Given the description of an element on the screen output the (x, y) to click on. 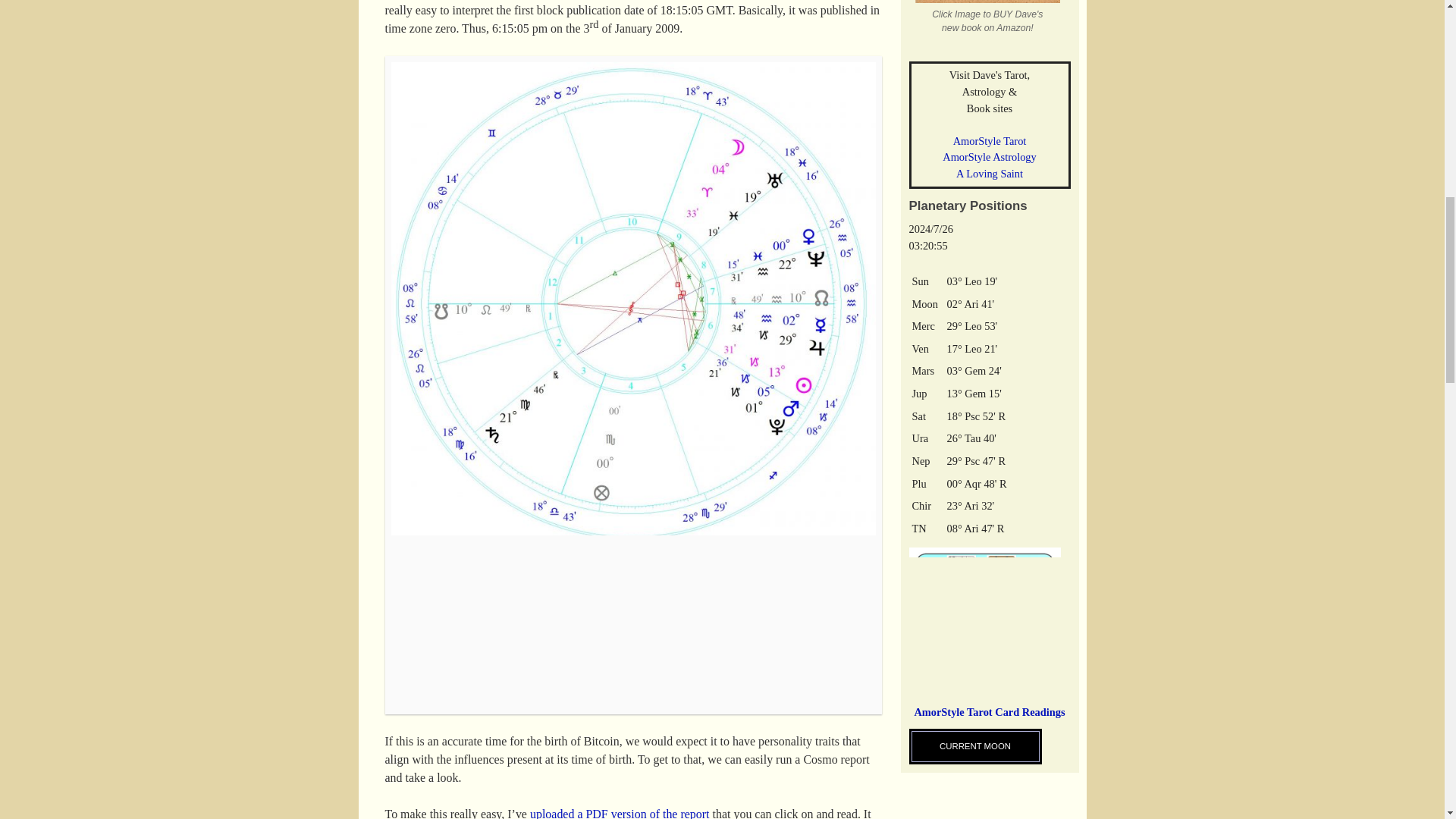
AmorStyle Tarot (989, 141)
A Loving Saint (989, 173)
AmorStyle Tarot Card Readings (989, 719)
uploaded a PDF version of the report (619, 813)
AmorStyle Astrology (989, 156)
